Given the description of an element on the screen output the (x, y) to click on. 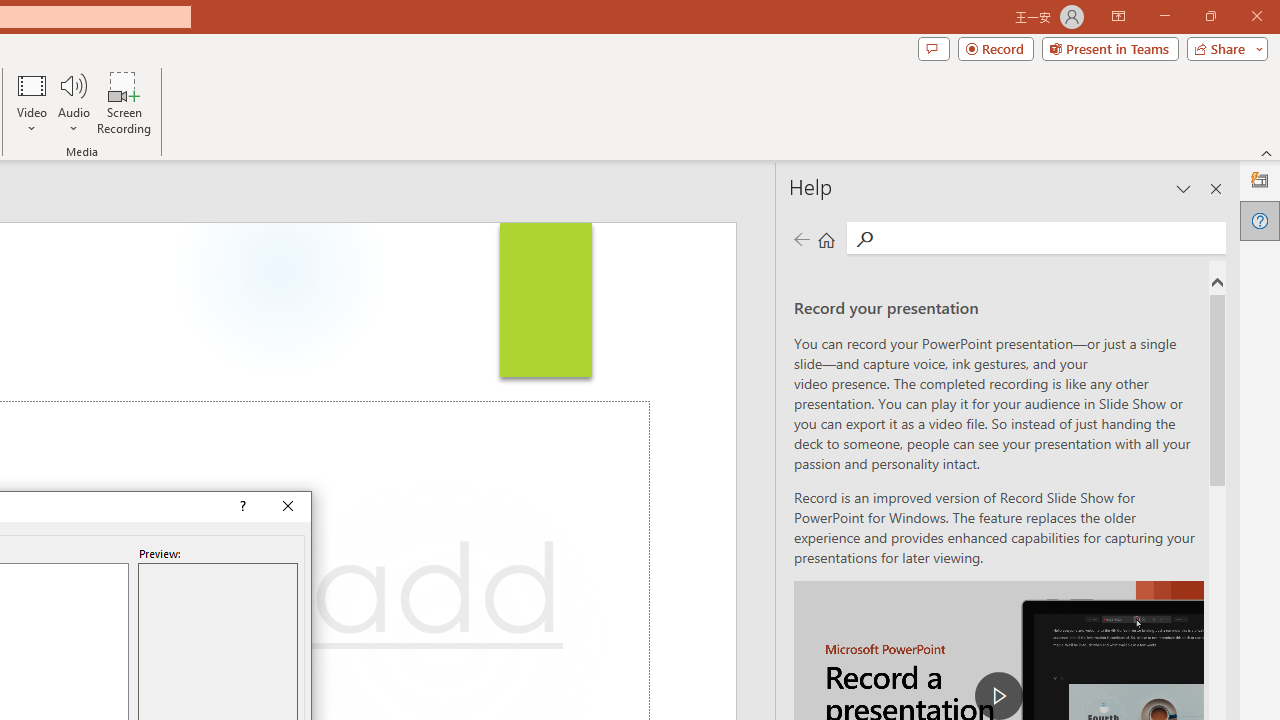
Search (864, 238)
Audio (73, 102)
